Given the description of an element on the screen output the (x, y) to click on. 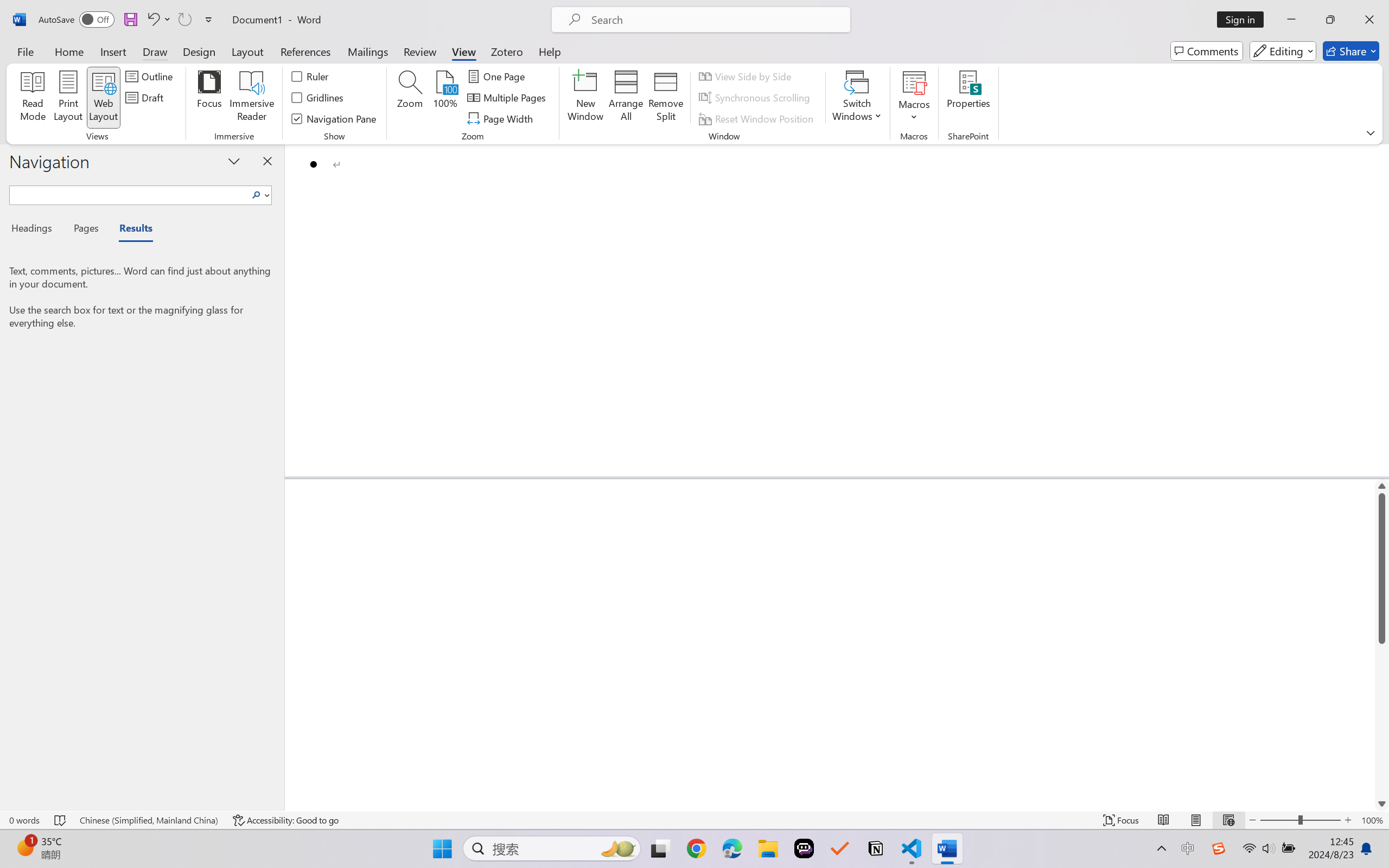
Gridlines (317, 97)
Synchronous Scrolling (755, 97)
Undo Bullet Default (152, 19)
Reset Window Position (757, 118)
Focus (209, 97)
Results (130, 229)
View Side by Side (746, 75)
